Given the description of an element on the screen output the (x, y) to click on. 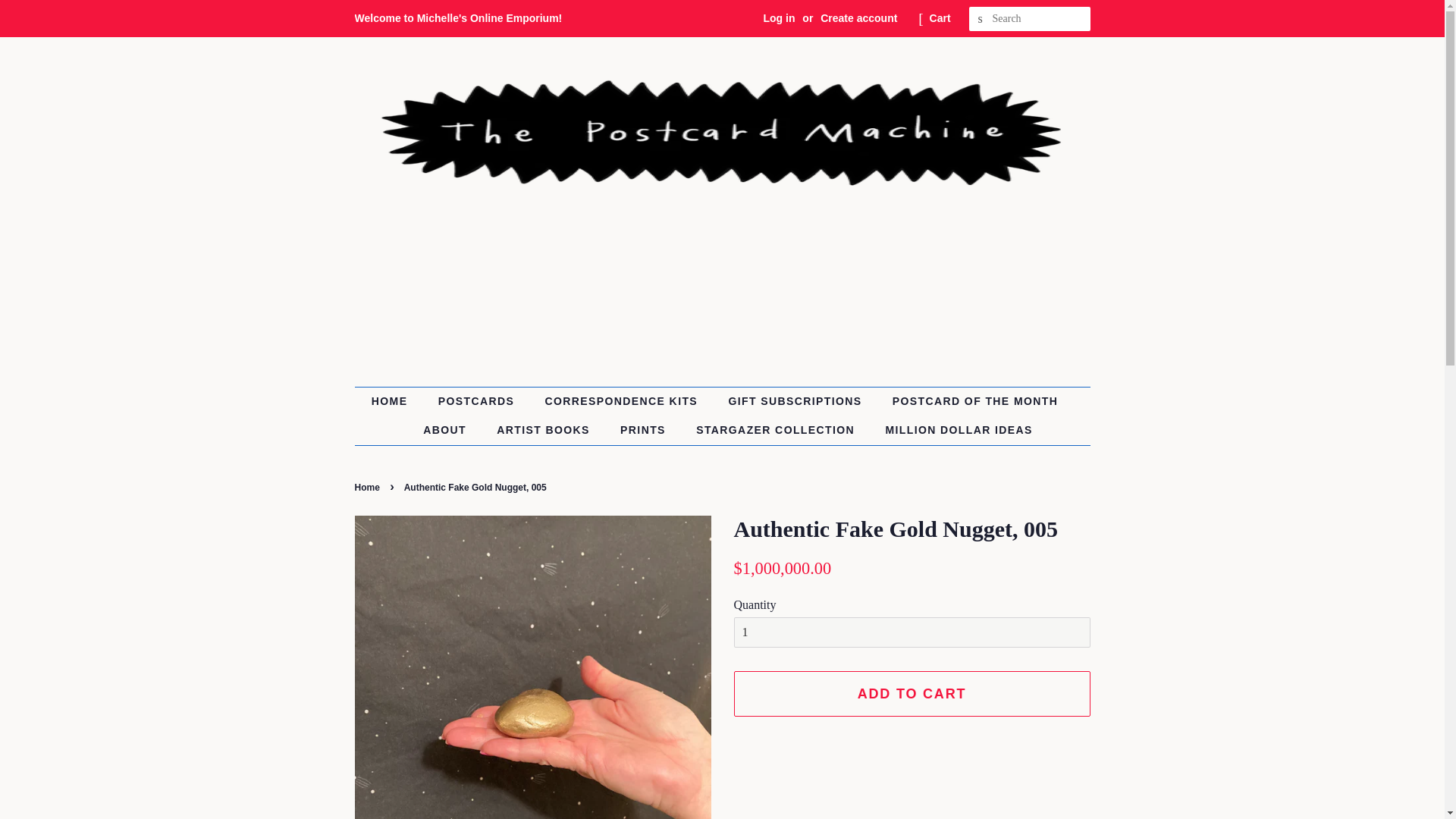
ABOUT (446, 430)
Home (369, 487)
Log in (778, 18)
GIFT SUBSCRIPTIONS (796, 401)
STARGAZER COLLECTION (776, 430)
ADD TO CART (911, 693)
1 (911, 632)
POSTCARD OF THE MONTH (976, 401)
Back to the frontpage (369, 487)
Create account (858, 18)
SEARCH (980, 18)
CORRESPONDENCE KITS (622, 401)
Cart (940, 18)
HOME (397, 401)
PRINTS (644, 430)
